Given the description of an element on the screen output the (x, y) to click on. 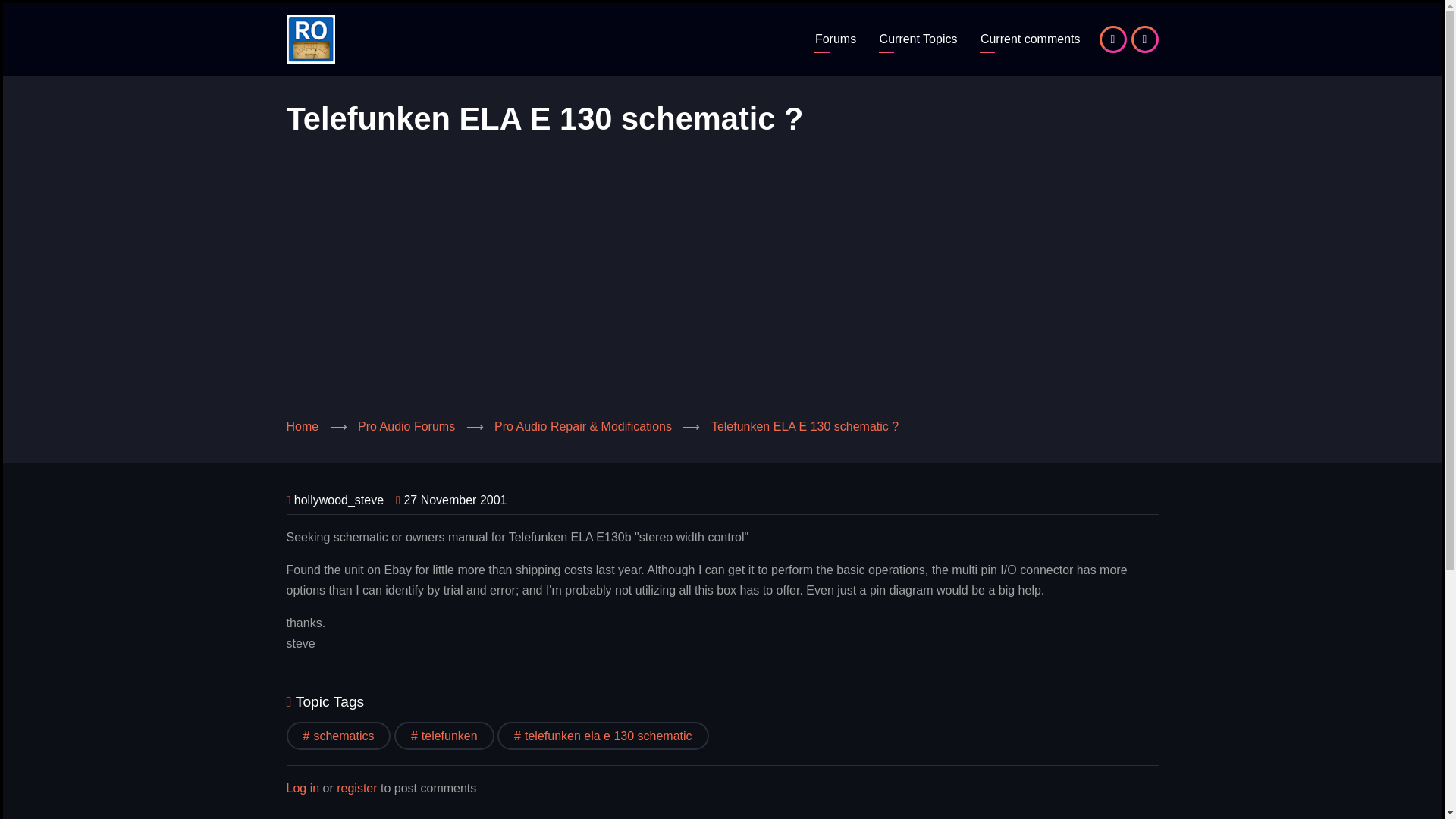
Home (310, 38)
Pro Audio Forums (835, 39)
Current Topics (918, 39)
telefunken ela e 130 schematic (603, 735)
Log in (303, 788)
Home (302, 426)
Current posts teaser (1030, 39)
register (356, 788)
schematics (338, 735)
